Given the description of an element on the screen output the (x, y) to click on. 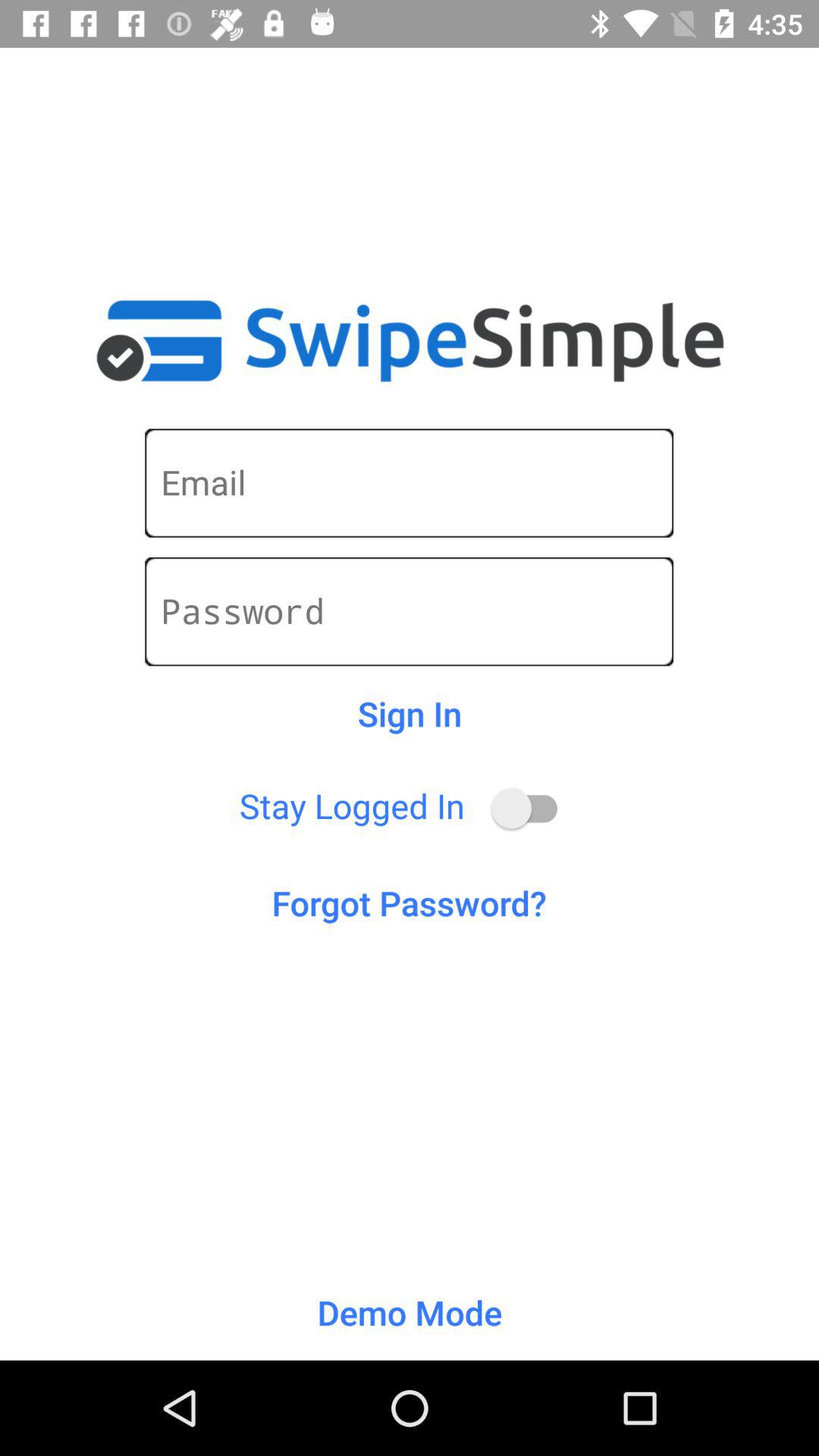
choose item above the forgot password? icon (531, 808)
